Given the description of an element on the screen output the (x, y) to click on. 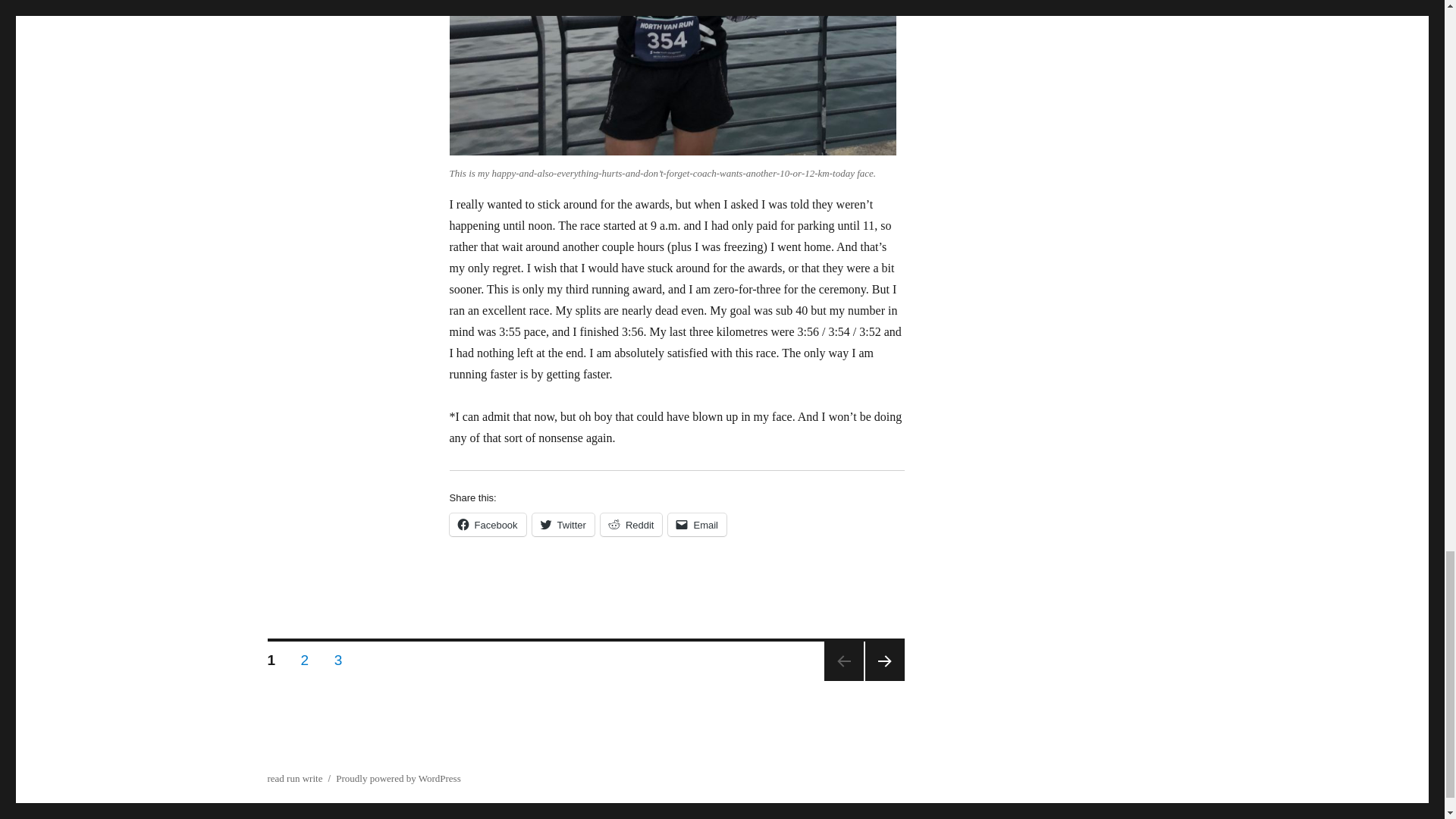
Reddit (630, 524)
NEXT PAGE (884, 660)
Click to share on Twitter (563, 524)
Proudly powered by WordPress (398, 778)
Click to share on Facebook (338, 657)
Click to share on Reddit (486, 524)
read run write (630, 524)
Facebook (293, 778)
Click to email a link to a friend (486, 524)
Email (304, 657)
Twitter (697, 524)
